Given the description of an element on the screen output the (x, y) to click on. 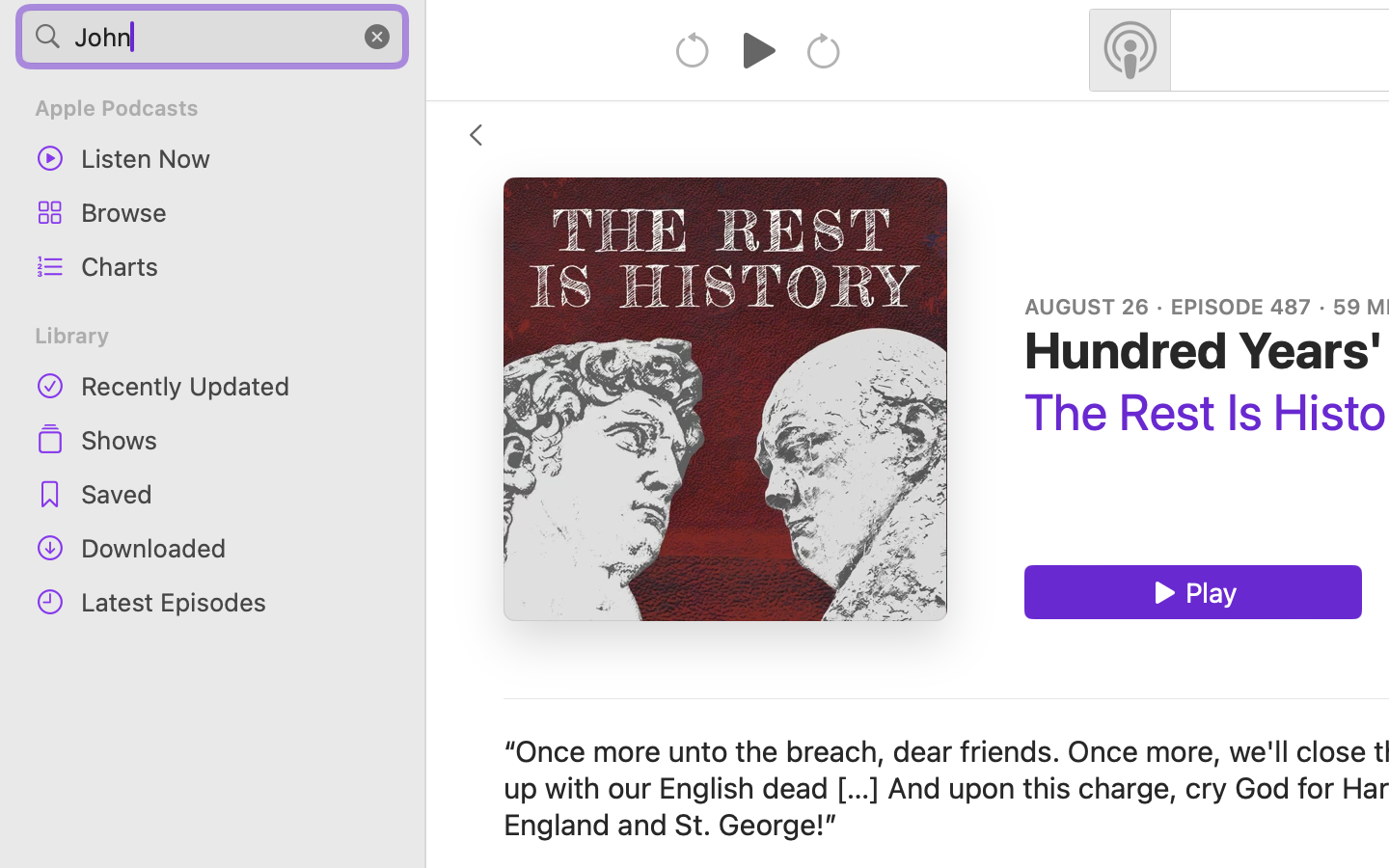
Playback Progress 0% Element type: AXImage (725, 399)
John Element type: AXTextField (212, 36)
